Given the description of an element on the screen output the (x, y) to click on. 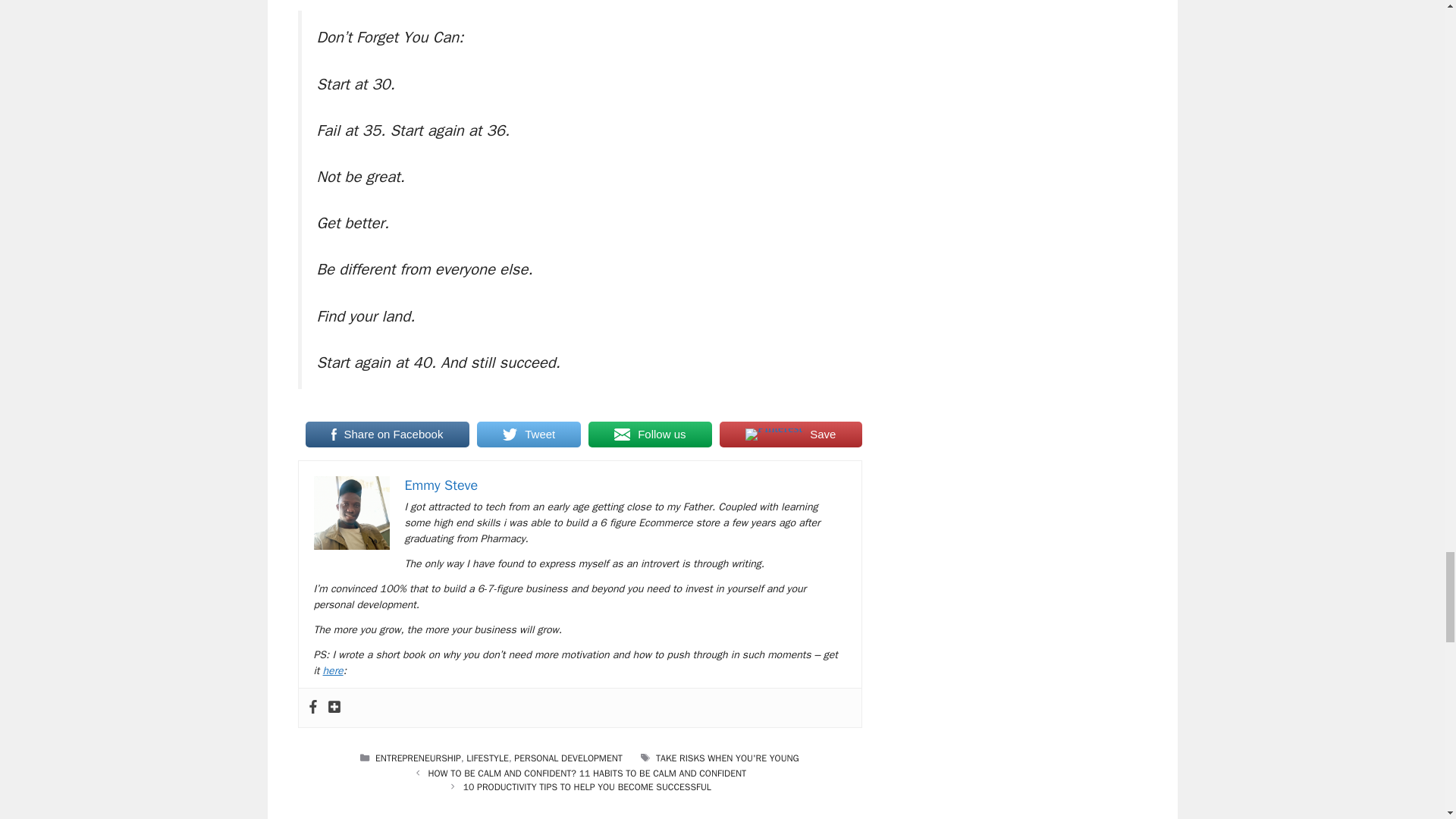
Tweet (528, 434)
ENTREPRENEURSHIP (418, 758)
here (333, 670)
Share on Facebook (386, 434)
Follow us (649, 434)
PERSONAL DEVELOPMENT (568, 758)
Emmy Steve (441, 484)
LIFESTYLE (486, 758)
Save (790, 434)
